Given the description of an element on the screen output the (x, y) to click on. 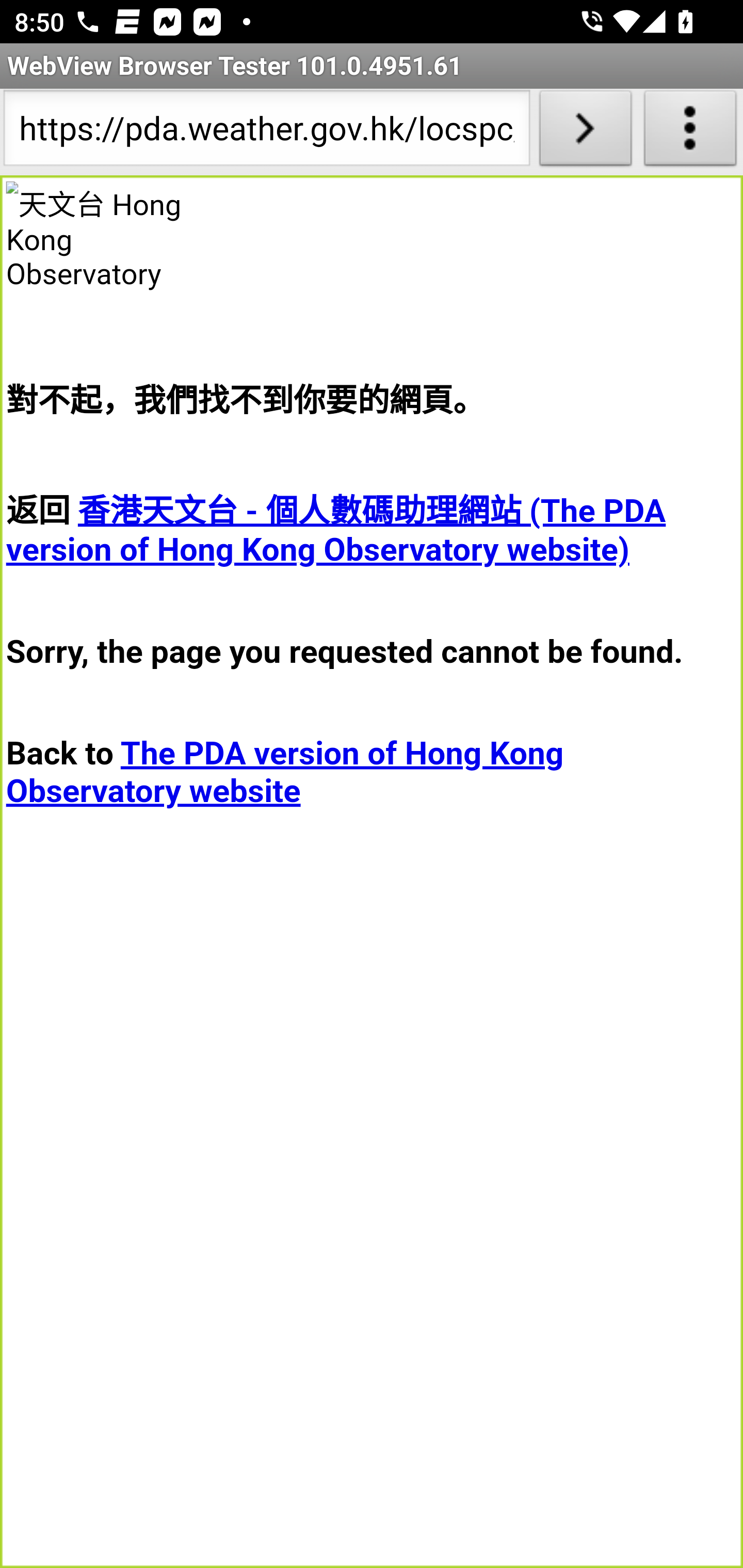
Load URL (585, 132)
About WebView (690, 132)
The PDA version of Hong Kong Observatory website (284, 771)
